Given the description of an element on the screen output the (x, y) to click on. 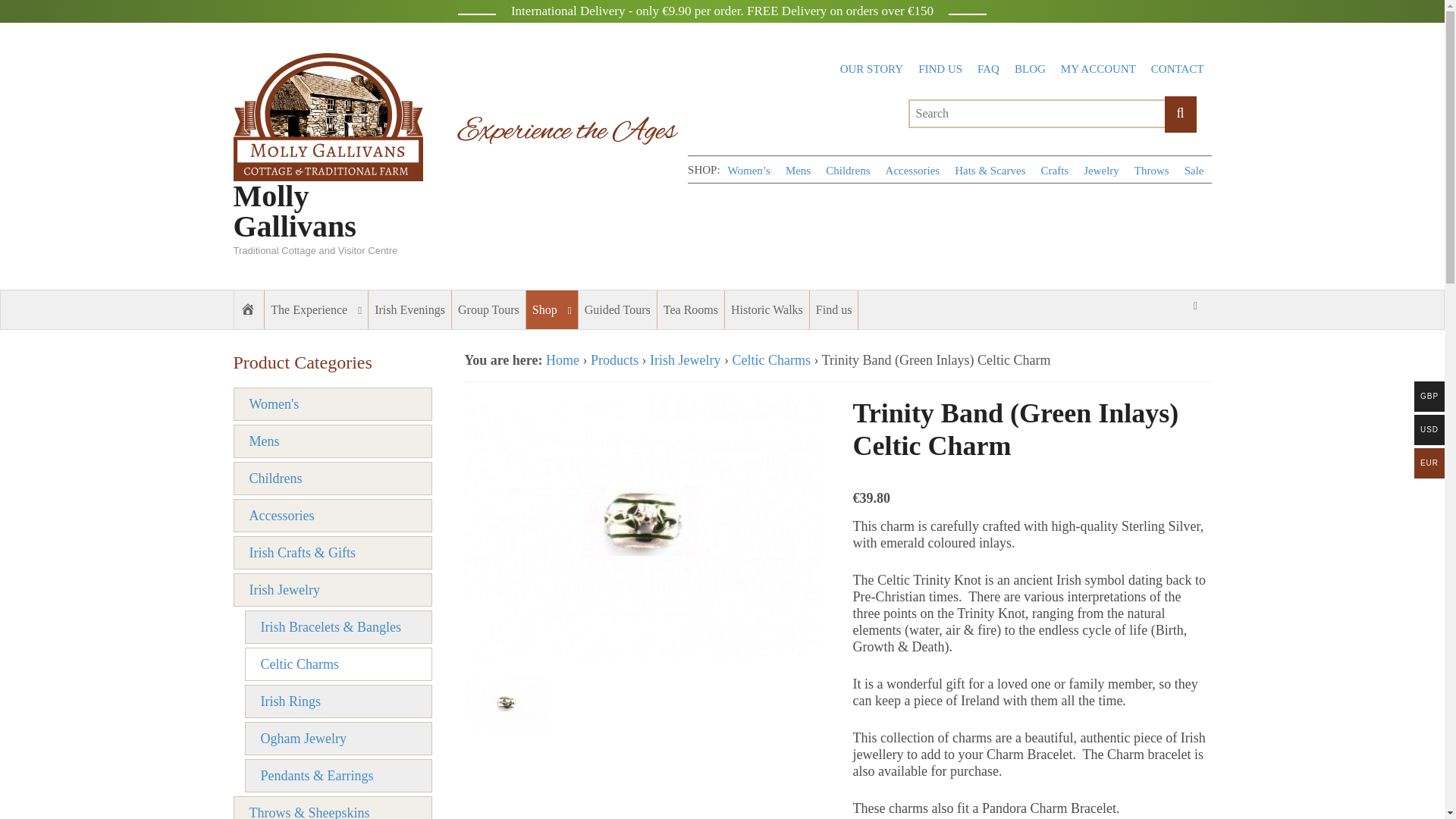
BLOG (1029, 68)
View your shopping cart (1195, 306)
The Experience (316, 309)
Jewelry (1100, 170)
FAQ (988, 68)
Childrens (847, 170)
Products (615, 359)
Irish Evenings (409, 309)
View Irish Jewelry (684, 359)
Molly Gallivans (294, 211)
